Given the description of an element on the screen output the (x, y) to click on. 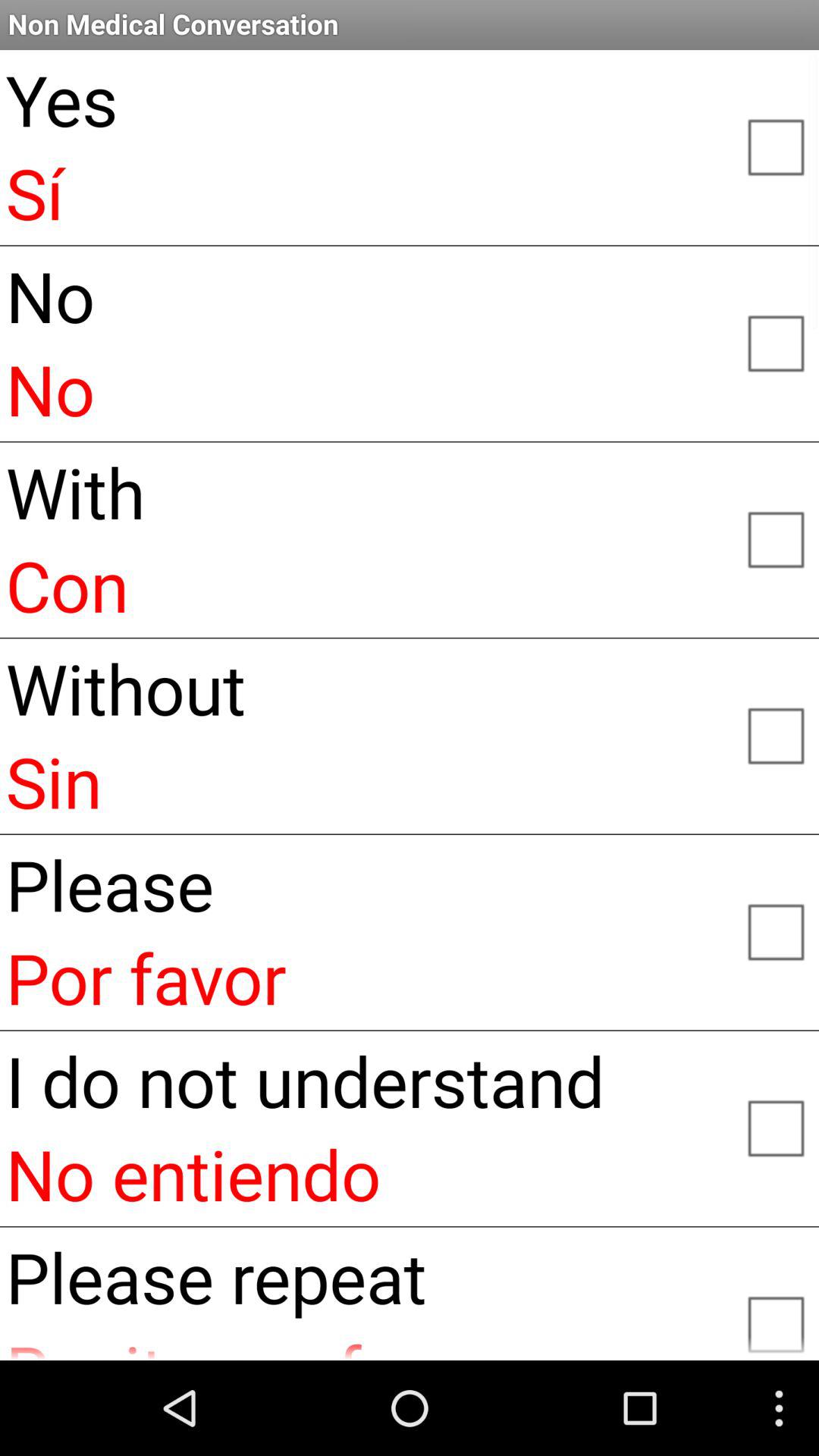
select this choice (775, 1127)
